Given the description of an element on the screen output the (x, y) to click on. 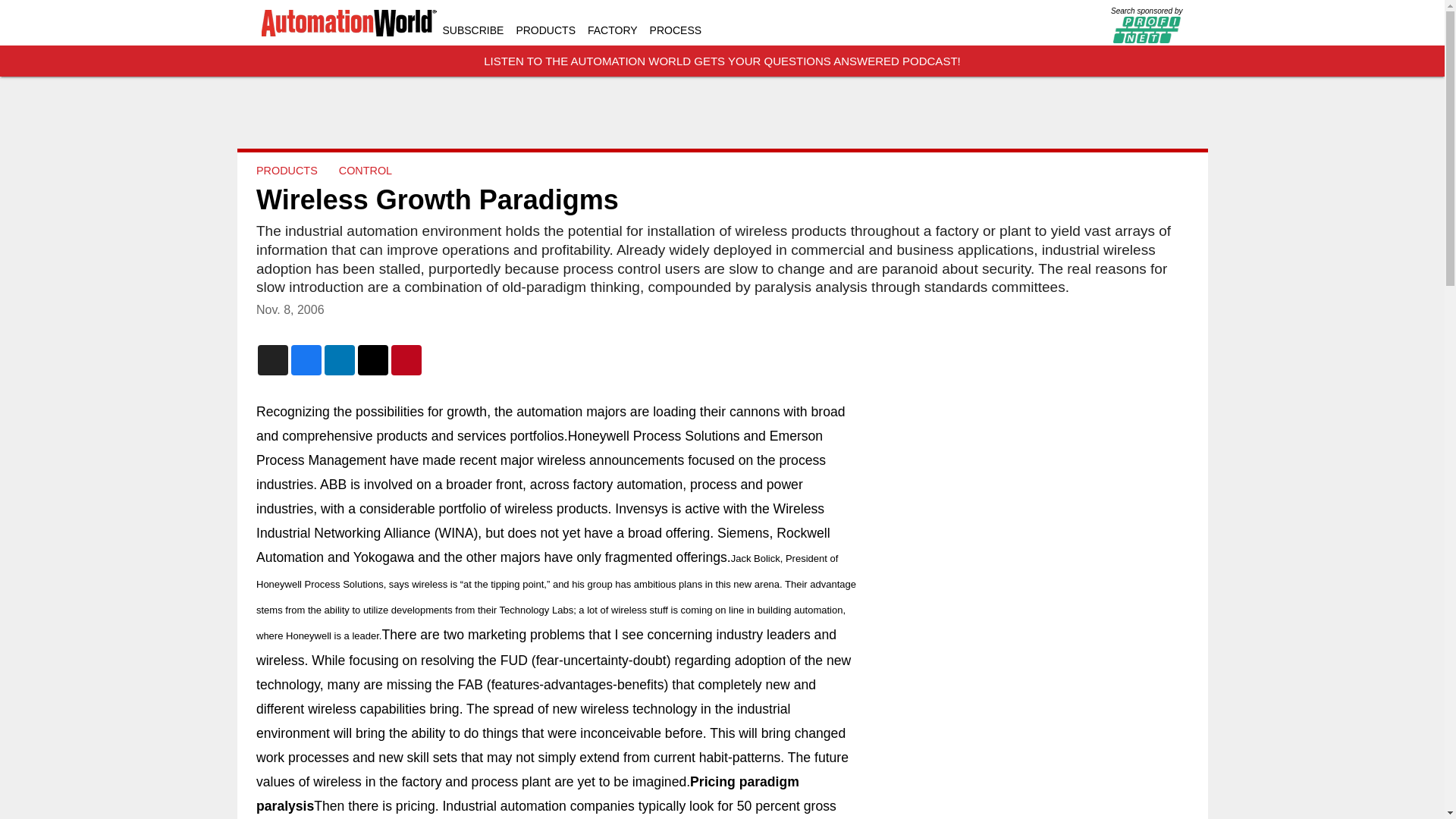
CONTROL (364, 170)
PRODUCTS (286, 170)
PROCESS (675, 30)
FACTORY (612, 30)
SUBSCRIBE (472, 30)
PRODUCTS (545, 30)
